Given the description of an element on the screen output the (x, y) to click on. 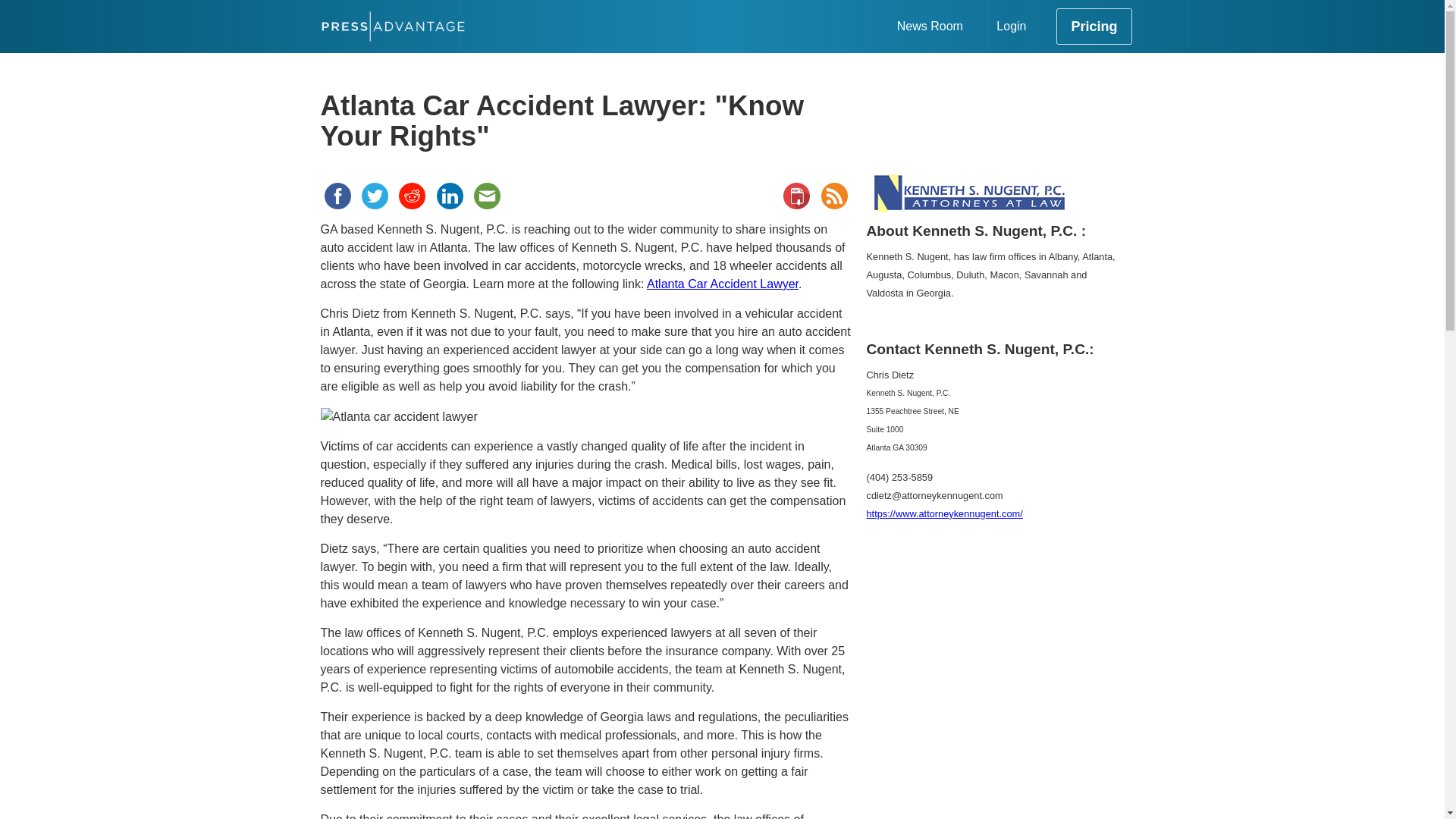
Atlanta Car Accident Lawyer (721, 283)
Pricing (1094, 26)
Login (1010, 25)
News Room (929, 25)
